Given the description of an element on the screen output the (x, y) to click on. 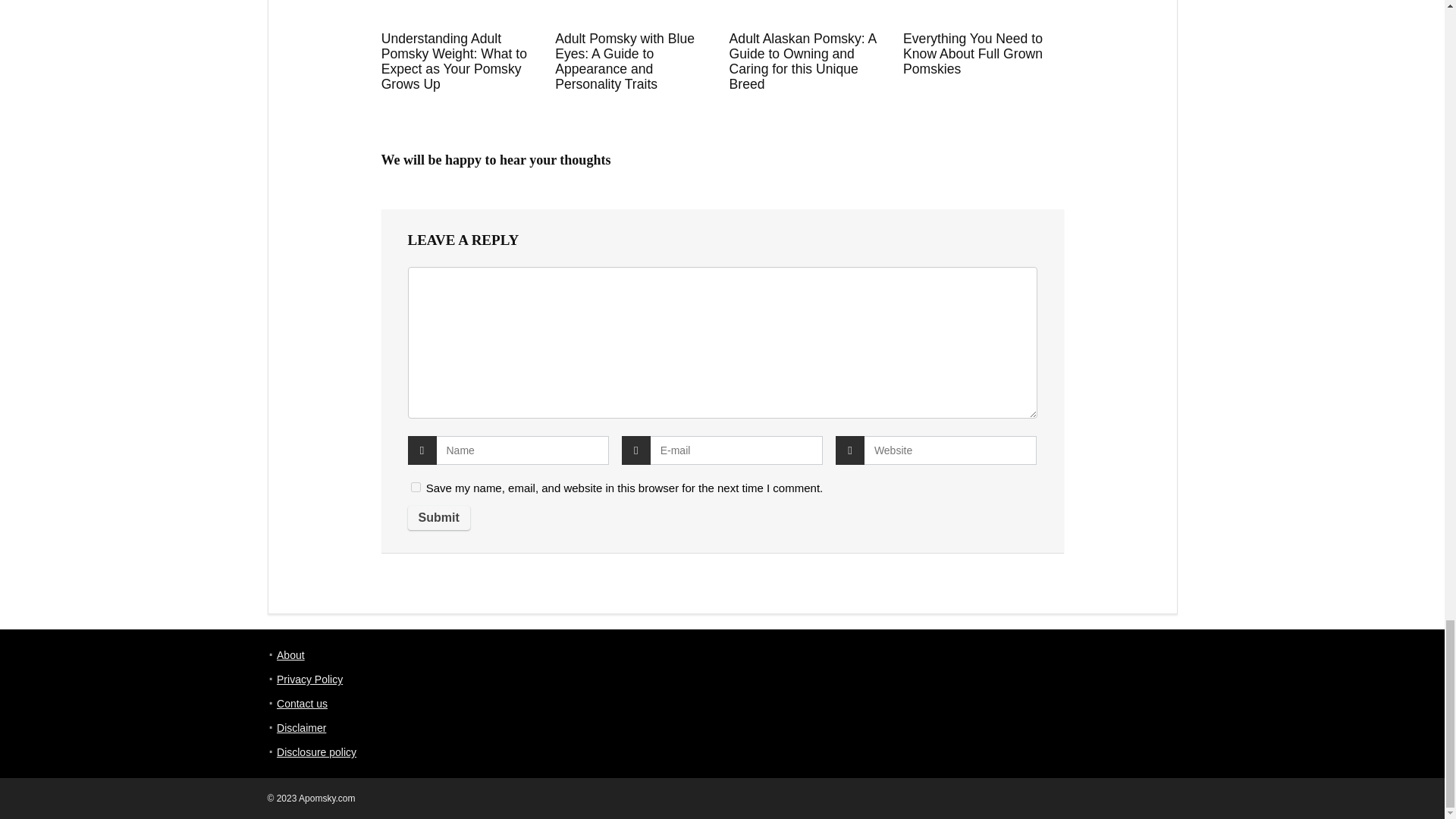
Submit (438, 517)
Everything You Need to Know About Full Grown Pomskies (972, 53)
yes (415, 487)
